Given the description of an element on the screen output the (x, y) to click on. 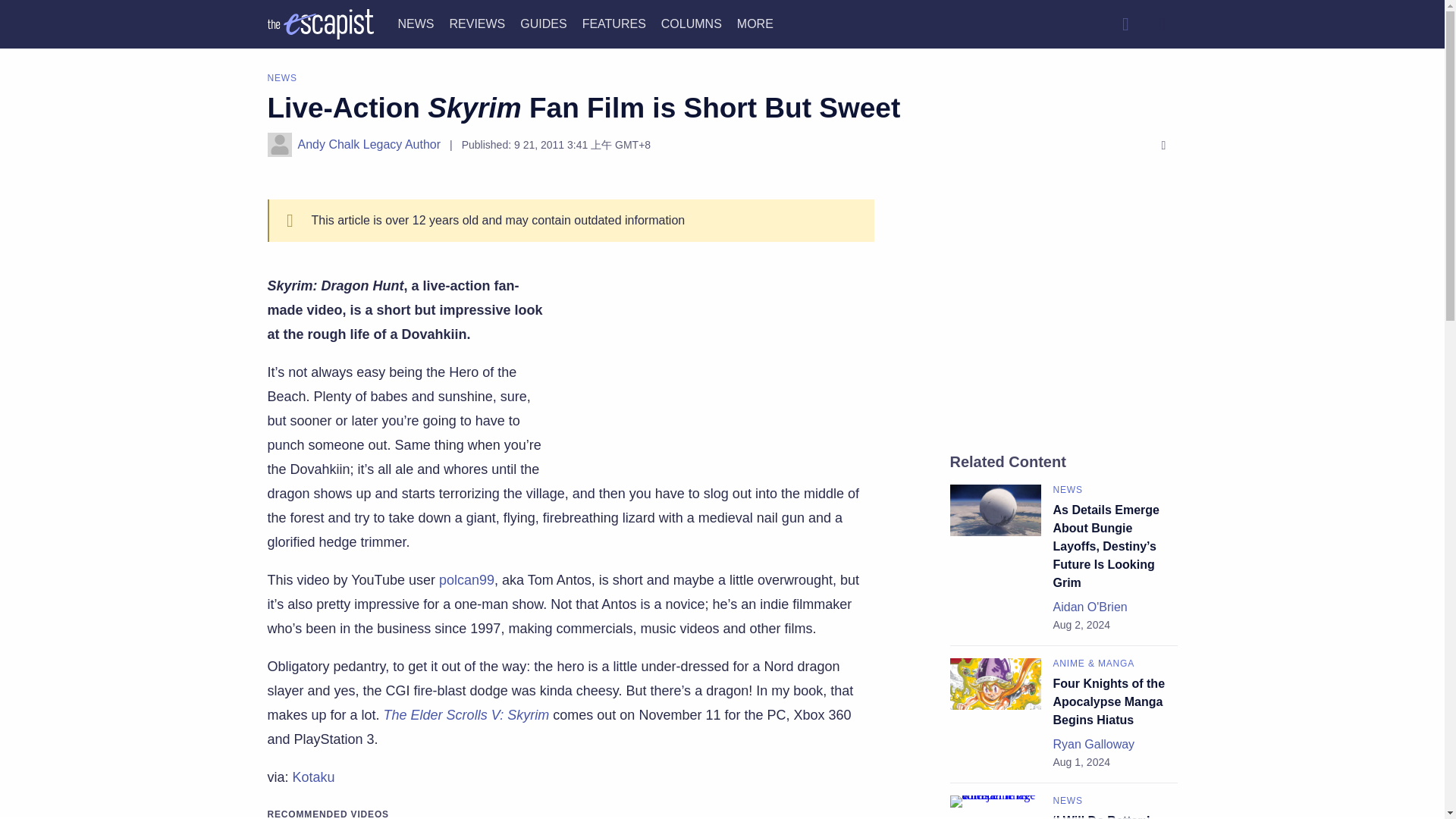
Dark Mode (1161, 24)
GUIDES (542, 23)
NEWS (415, 23)
Search (1124, 24)
COLUMNS (691, 23)
FEATURES (614, 23)
REVIEWS (476, 23)
